Given the description of an element on the screen output the (x, y) to click on. 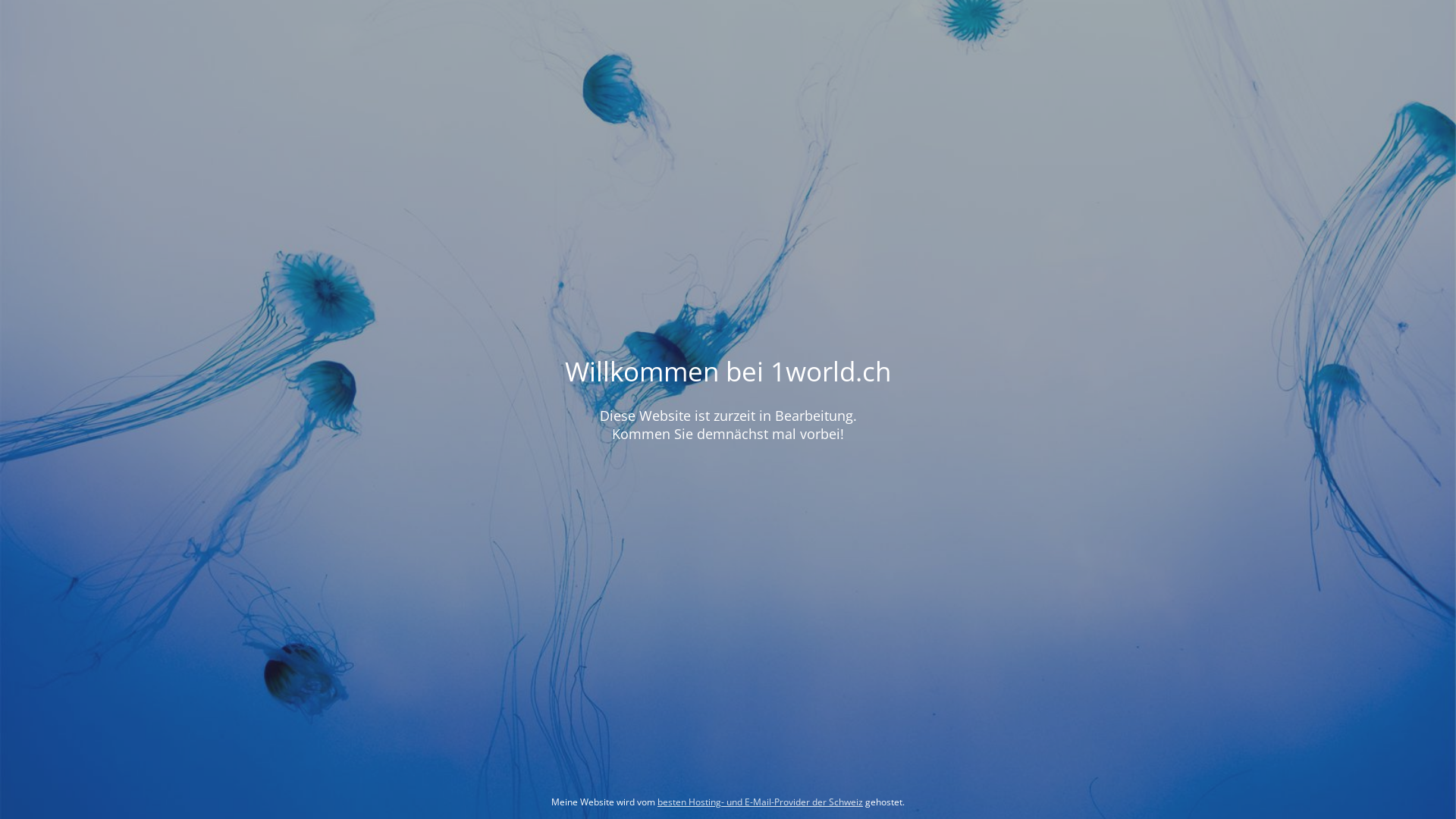
besten Hosting- und E-Mail-Provider der Schweiz Element type: text (759, 801)
